Given the description of an element on the screen output the (x, y) to click on. 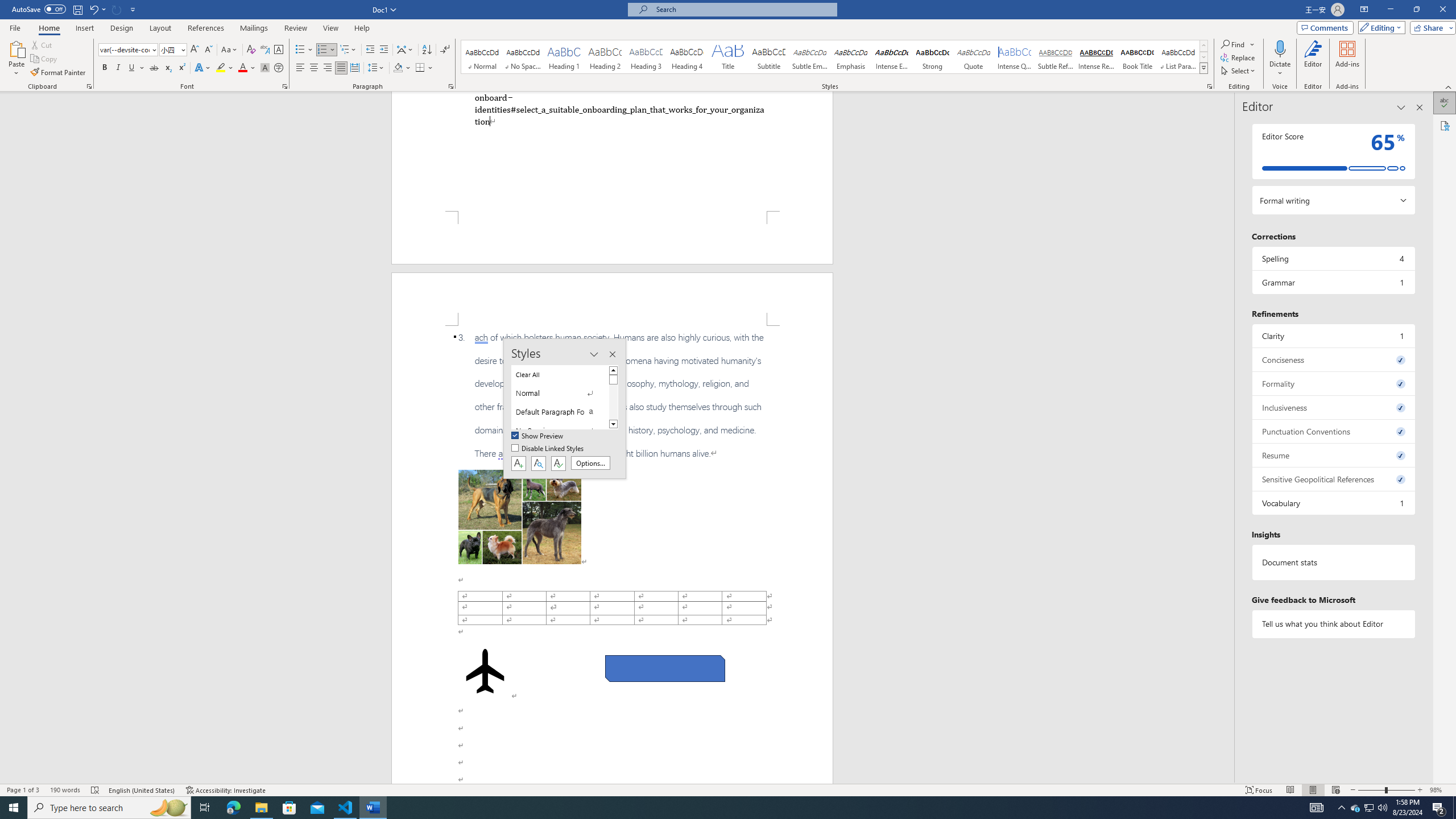
Underline (131, 67)
Ribbon Display Options (1364, 9)
Find (1237, 44)
References (205, 28)
Zoom Out (1371, 790)
Bullets (304, 49)
Heading 1 (564, 56)
Close (1442, 9)
Intense Quote (1014, 56)
Morphological variation in six dogs (519, 517)
Spelling, 4 issues. Press space or enter to review items. (1333, 258)
Page Number Page 1 of 3 (22, 790)
Insert (83, 28)
Styles... (1209, 85)
